Given the description of an element on the screen output the (x, y) to click on. 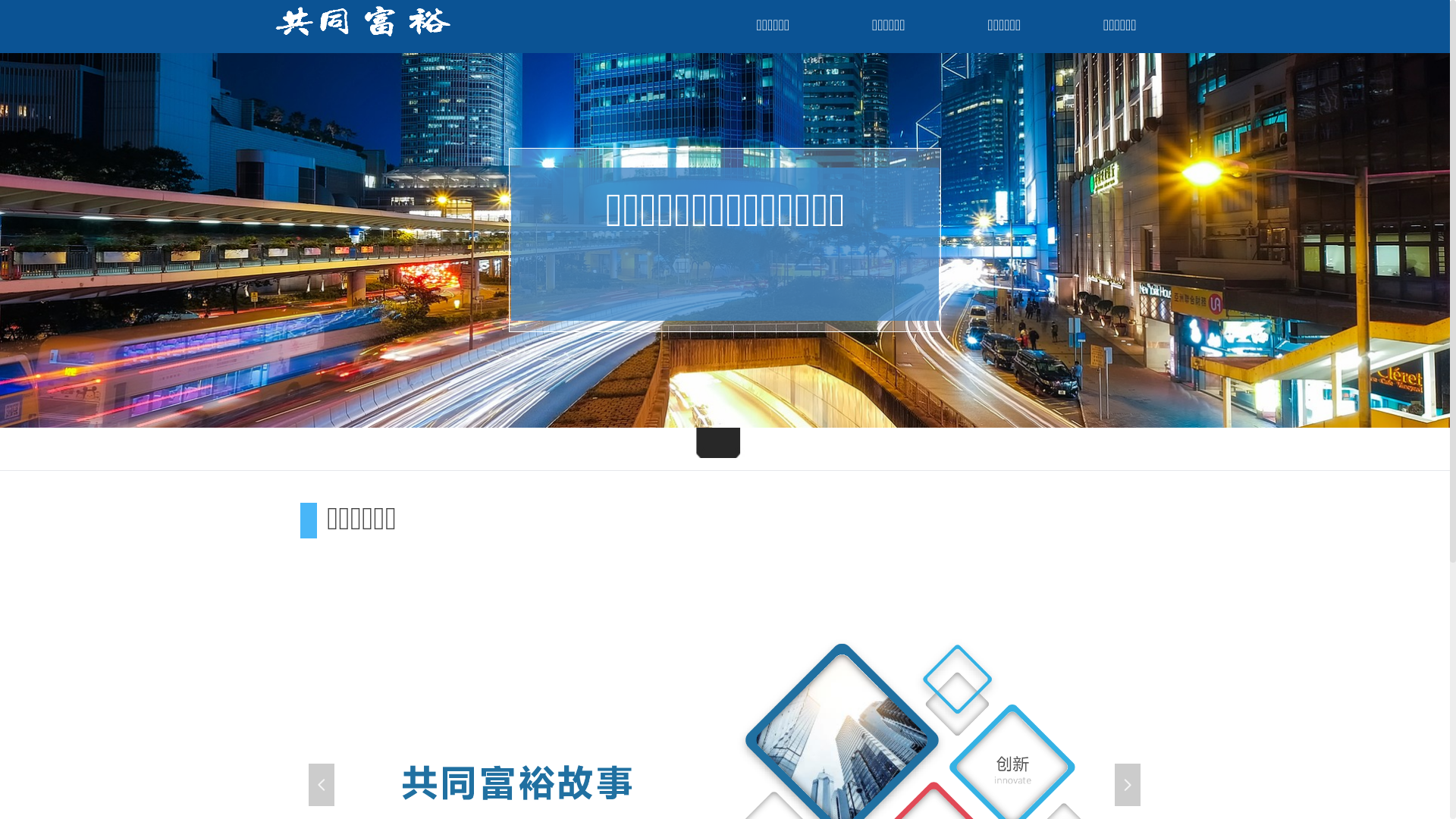
-4615 Element type: hover (720, 453)
